Given the description of an element on the screen output the (x, y) to click on. 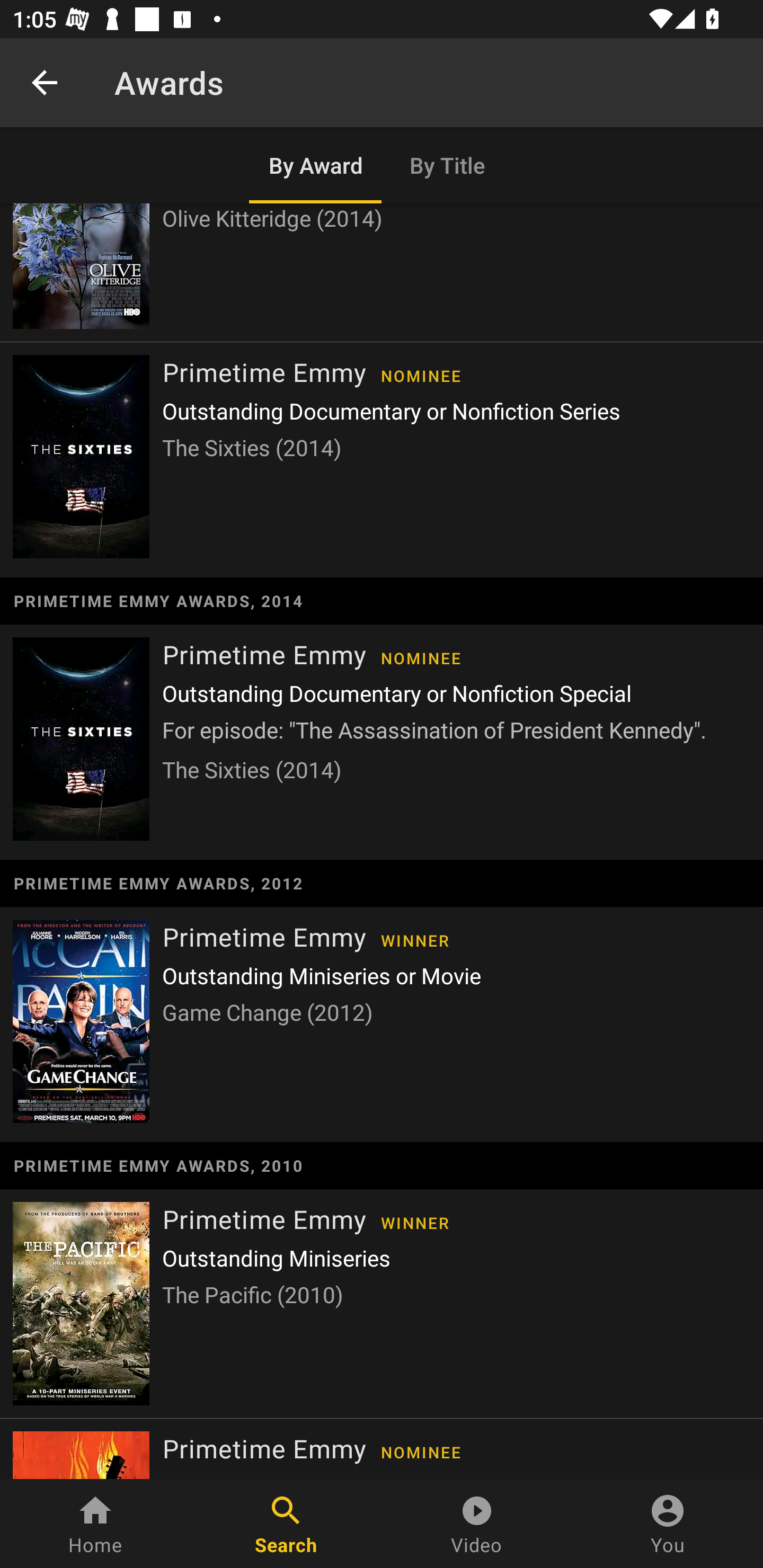
By Title (447, 165)
Olive Kitteridge (2014) (381, 272)
Home (95, 1523)
Video (476, 1523)
You (667, 1523)
